Given the description of an element on the screen output the (x, y) to click on. 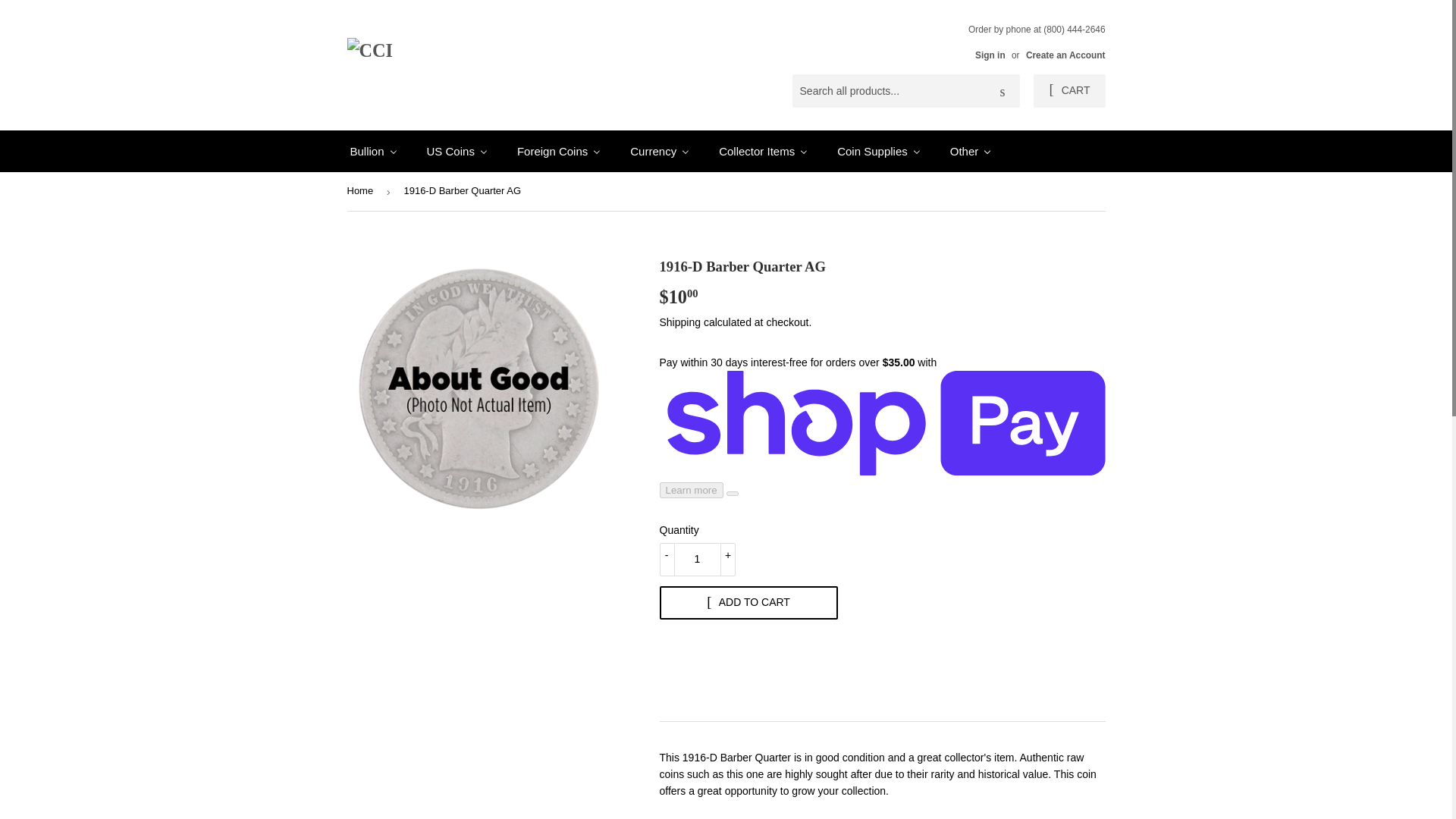
Create an Account (1065, 54)
CART (1069, 90)
Sign in (990, 54)
1 (697, 559)
Search (1002, 91)
